Given the description of an element on the screen output the (x, y) to click on. 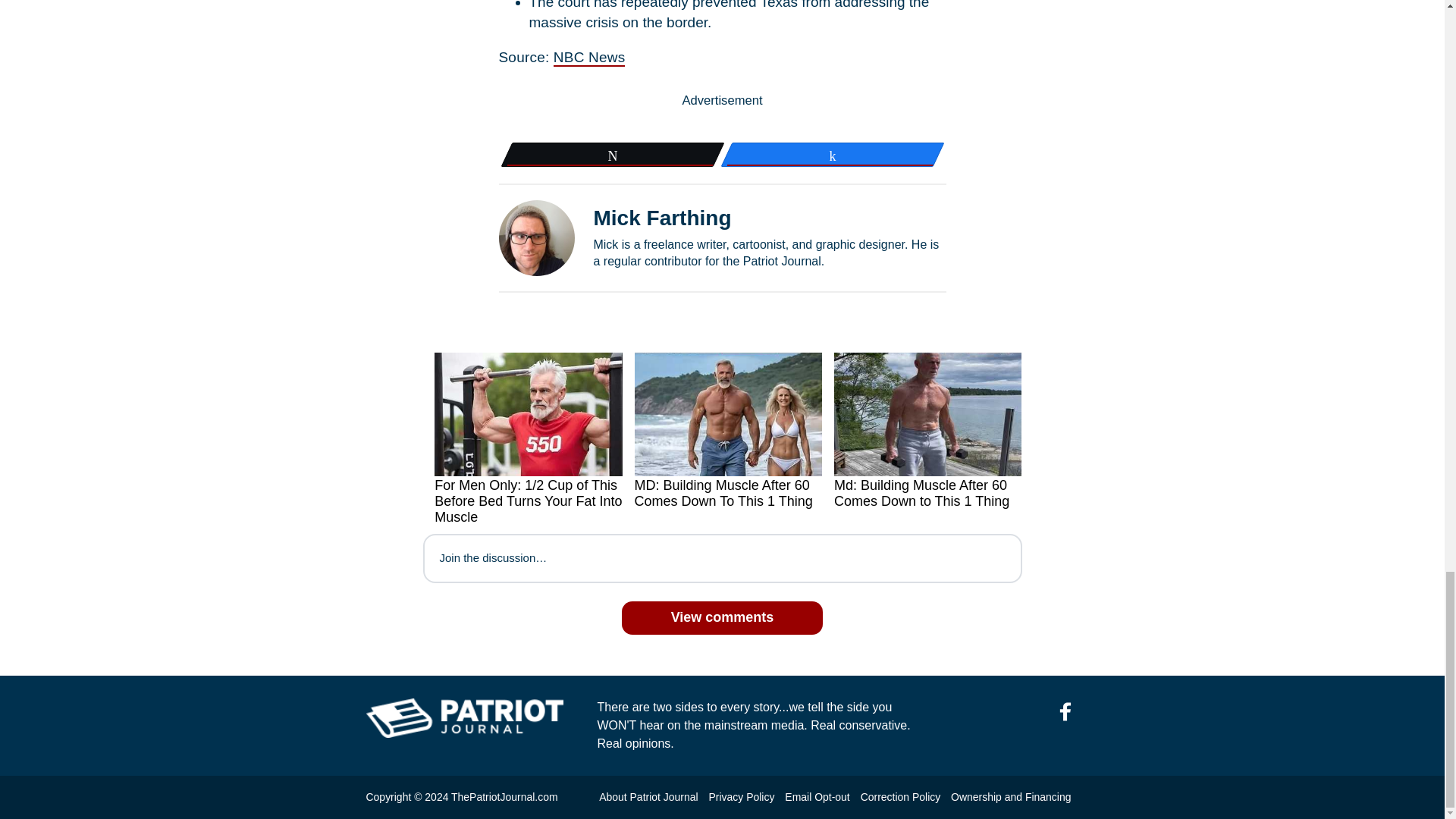
About Patriot Journal (647, 797)
View comments (722, 617)
Ownership and Financing (1010, 797)
ThePatriotJournal.com (504, 797)
Email Opt-out (816, 797)
Privacy Policy (740, 797)
NBC News (589, 57)
Correction Policy (900, 797)
